Given the description of an element on the screen output the (x, y) to click on. 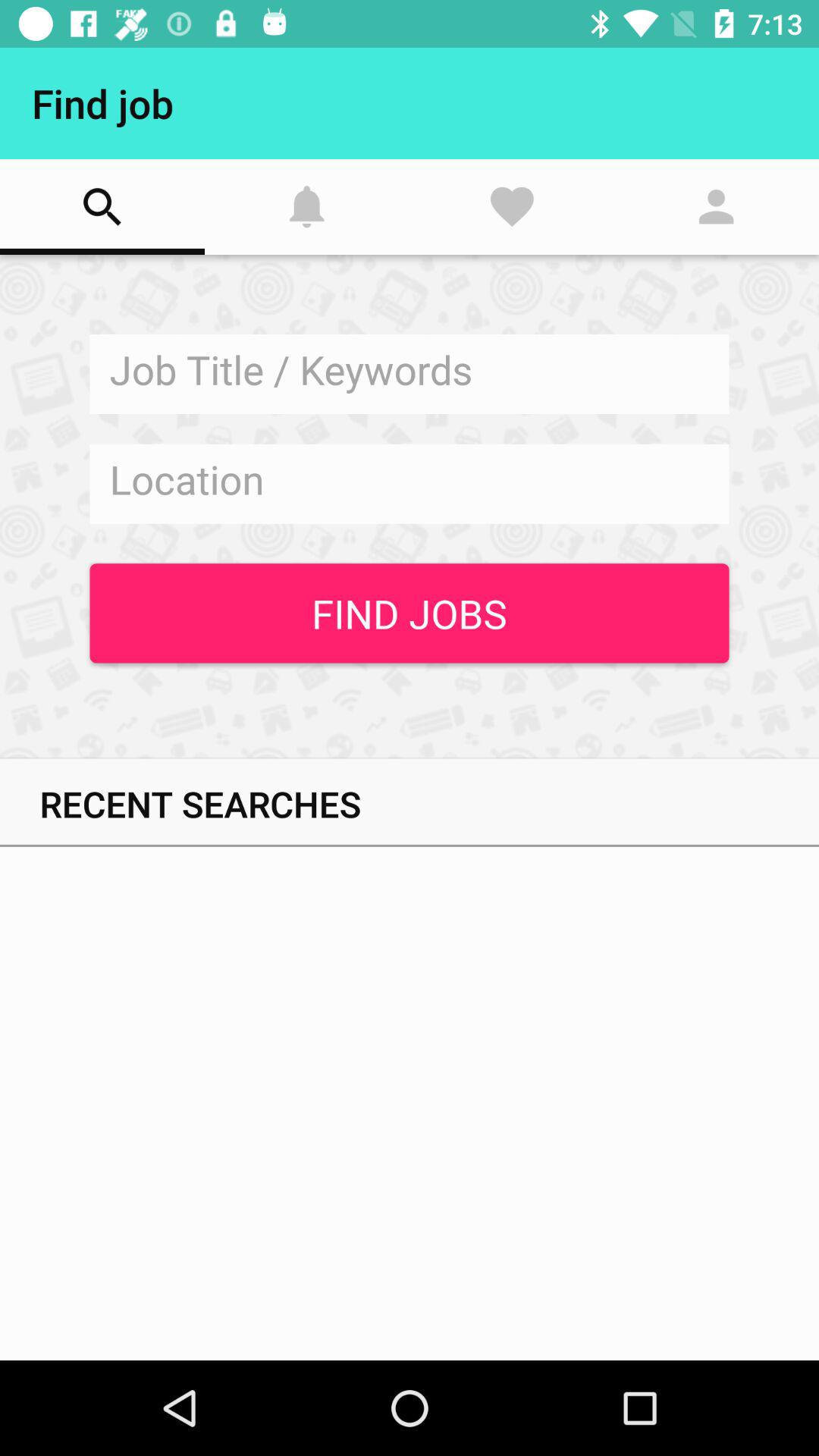
location (409, 483)
